Given the description of an element on the screen output the (x, y) to click on. 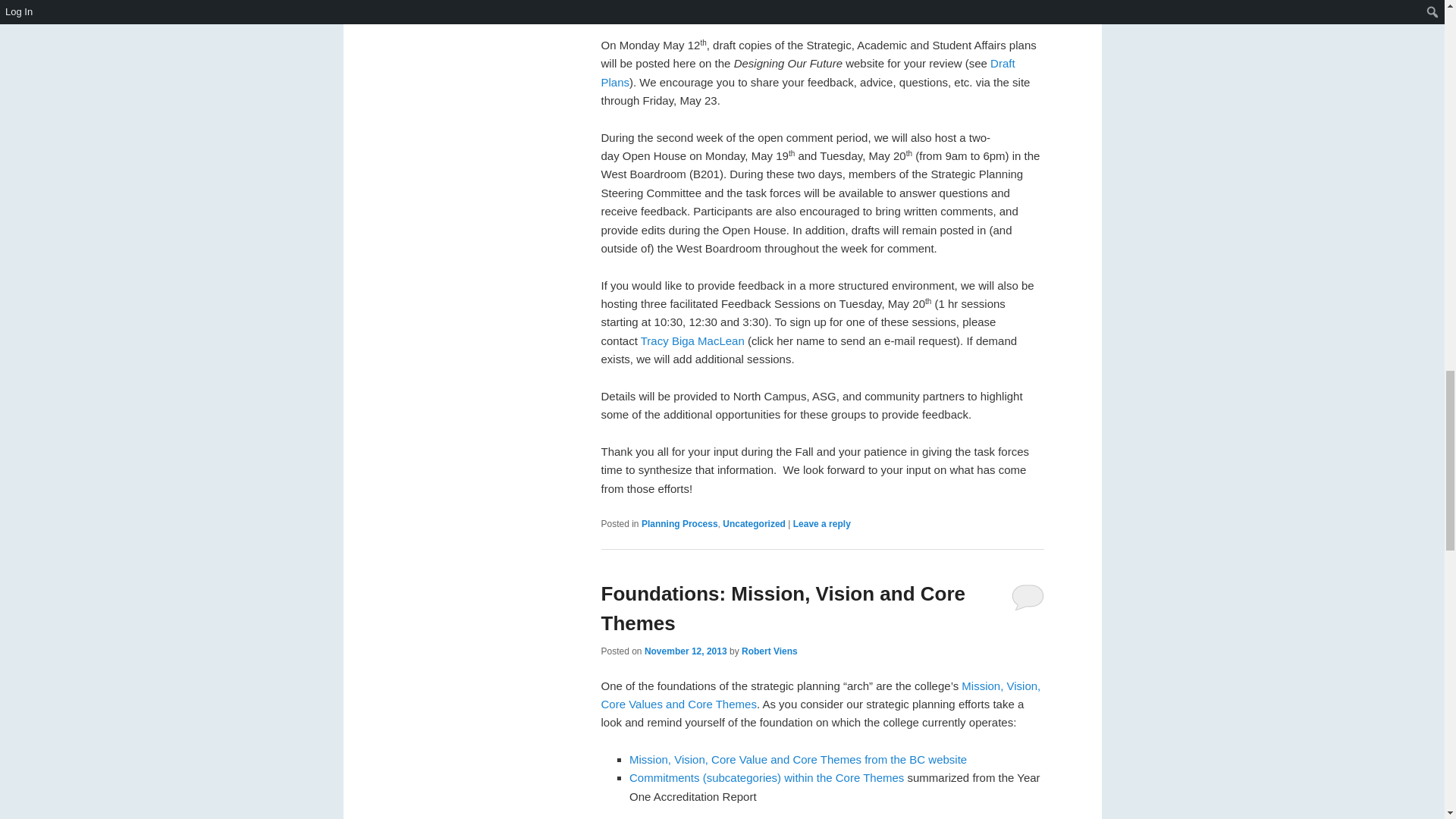
Robert Viens (769, 651)
November 12, 2013 (685, 651)
Leave a reply (821, 523)
2:00 pm (685, 651)
Draft Plans (806, 71)
View all posts by Robert Viens (769, 651)
Tracy Biga MacLean (692, 340)
Draft Plans (806, 71)
Foundations: Mission, Vision and Core Themes (782, 608)
Uncategorized (754, 523)
